Given the description of an element on the screen output the (x, y) to click on. 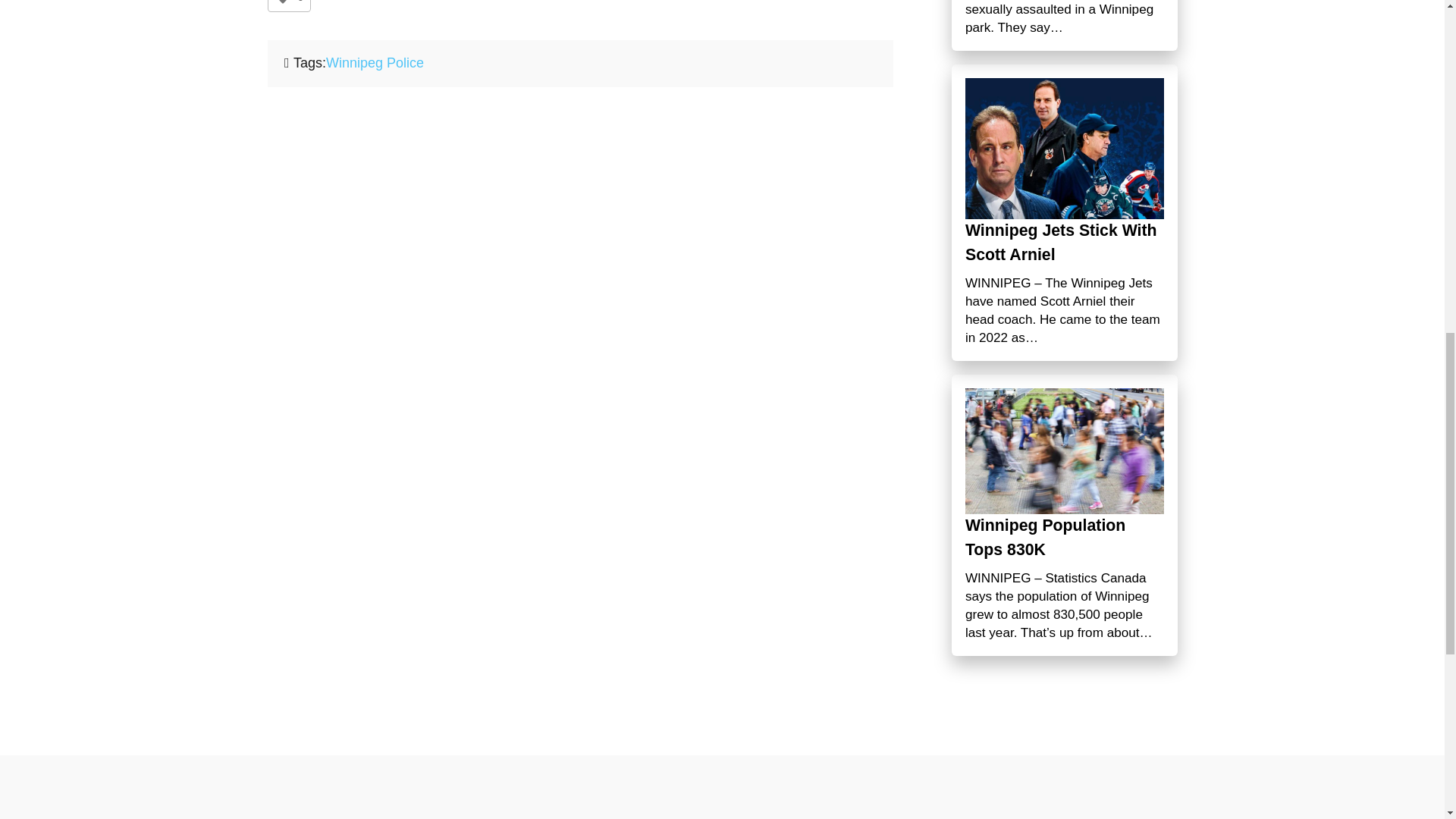
Winnipeg Police (374, 62)
